Given the description of an element on the screen output the (x, y) to click on. 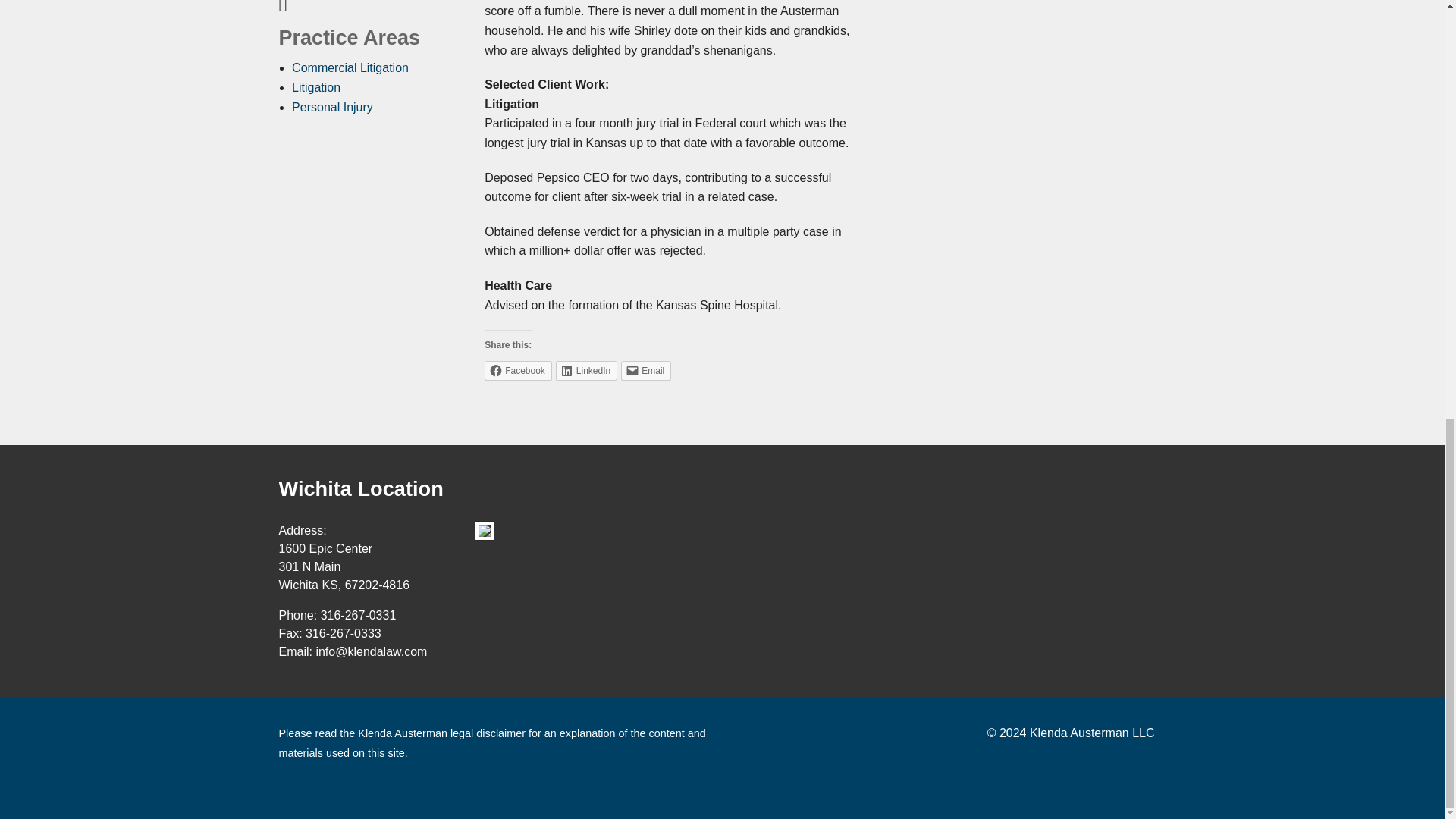
Email (646, 370)
Click to share on LinkedIn (586, 370)
LinkedIn (586, 370)
Litigation (316, 87)
Facebook (517, 370)
Personal Injury (332, 106)
Commercial Litigation (350, 67)
Click to share on Facebook (517, 370)
Klenda Law LLC Wichita Law Office Location on Google Maps (484, 530)
Click to email a link to a friend (646, 370)
